Given the description of an element on the screen output the (x, y) to click on. 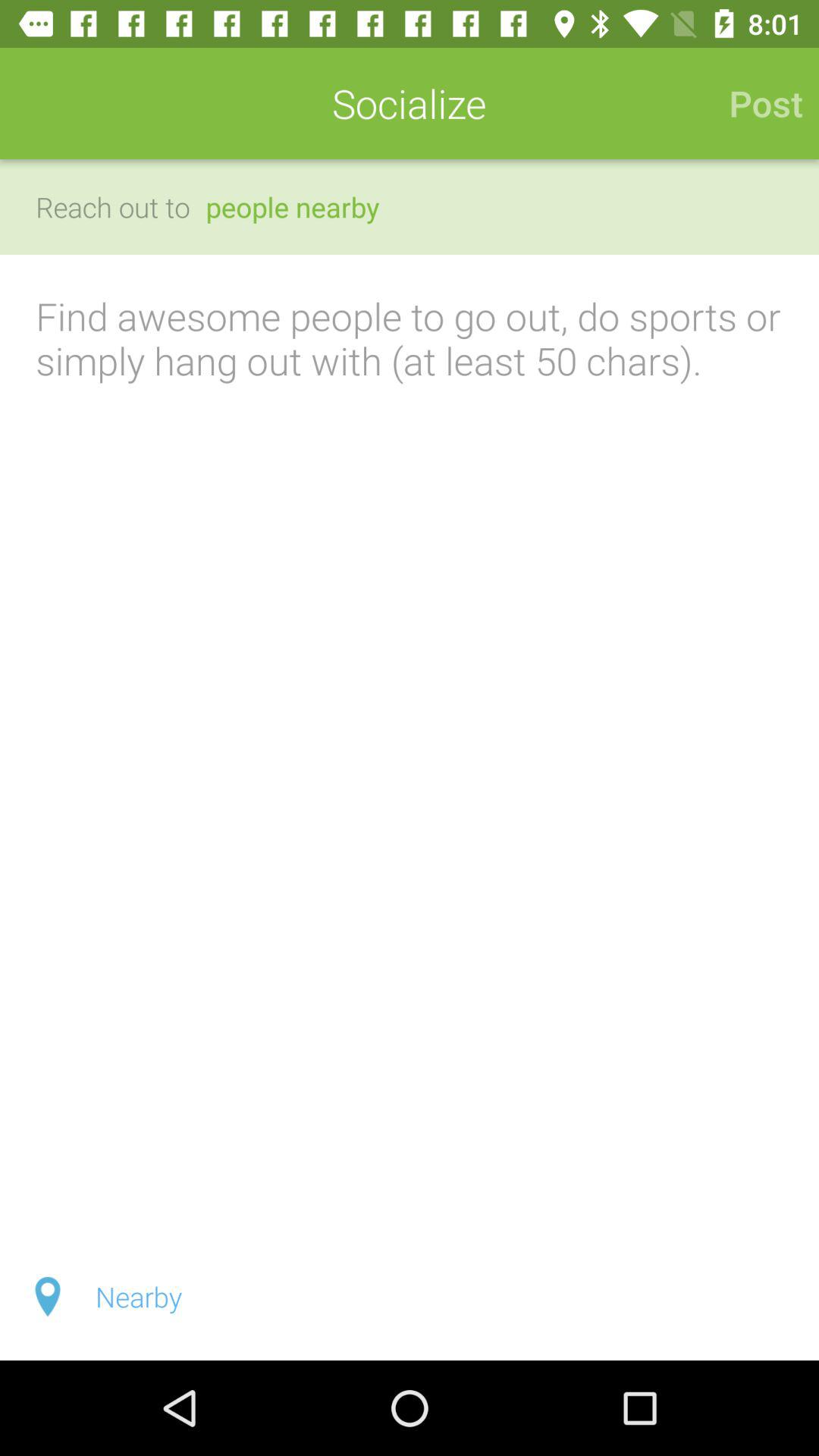
locate nearby (409, 1296)
